Given the description of an element on the screen output the (x, y) to click on. 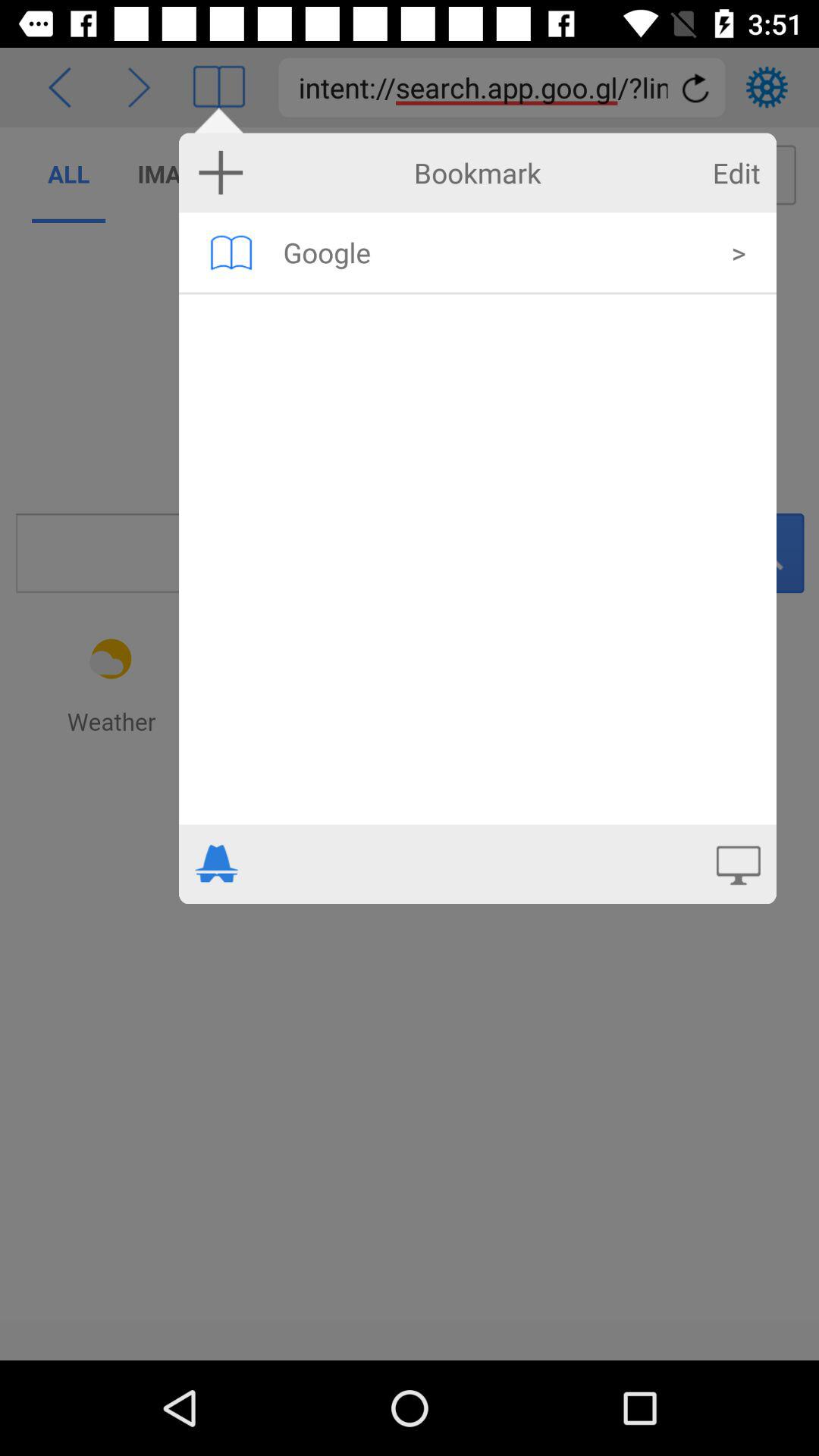
tap item to the left of bookmark icon (220, 172)
